Given the description of an element on the screen output the (x, y) to click on. 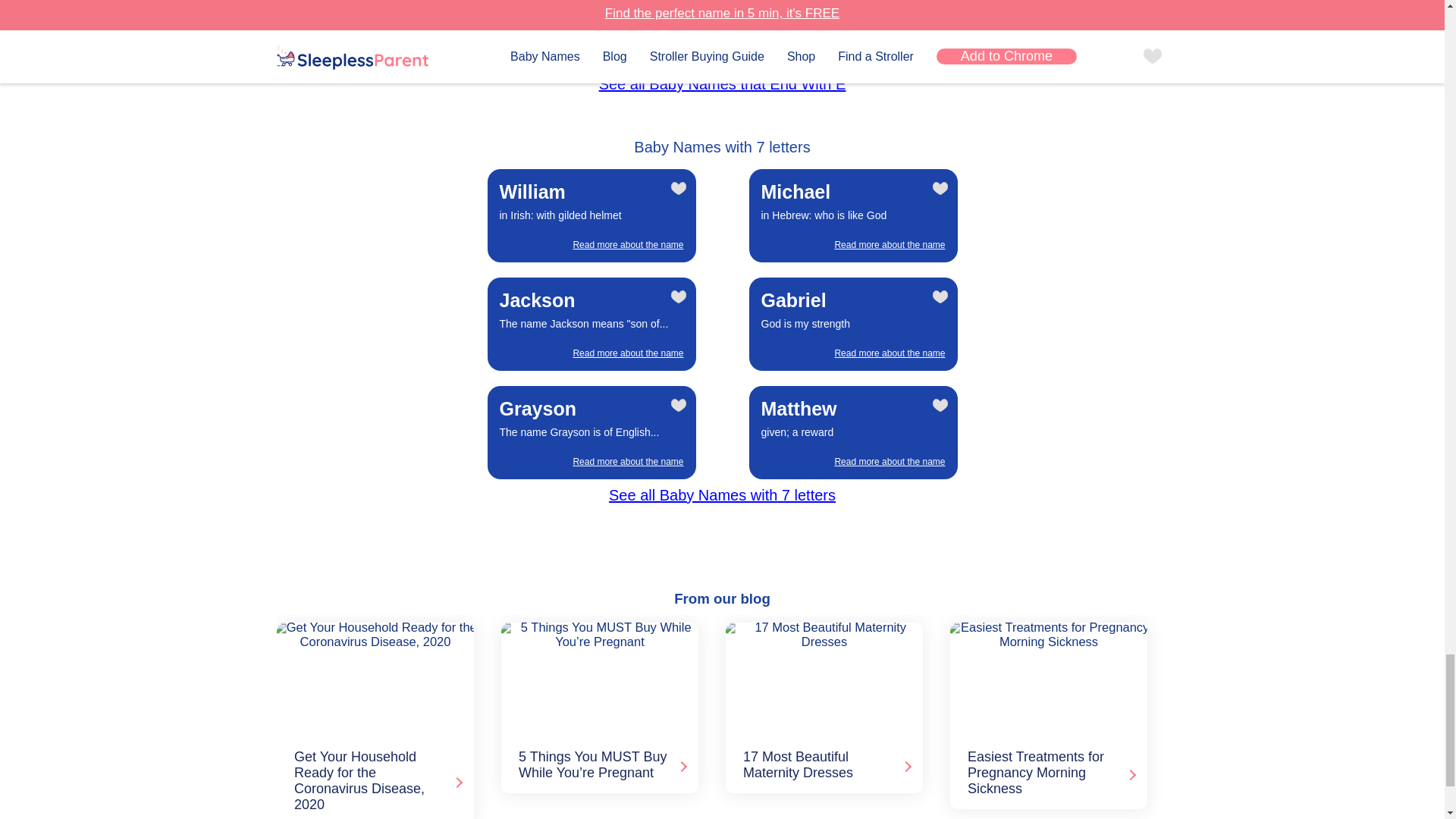
17 Most Beautiful Maternity Dresses (821, 677)
Easiest Treatments for Pregnancy Morning Sickness (1045, 677)
Get Your Household Ready for the Coronavirus Disease, 2020 (371, 677)
